Given the description of an element on the screen output the (x, y) to click on. 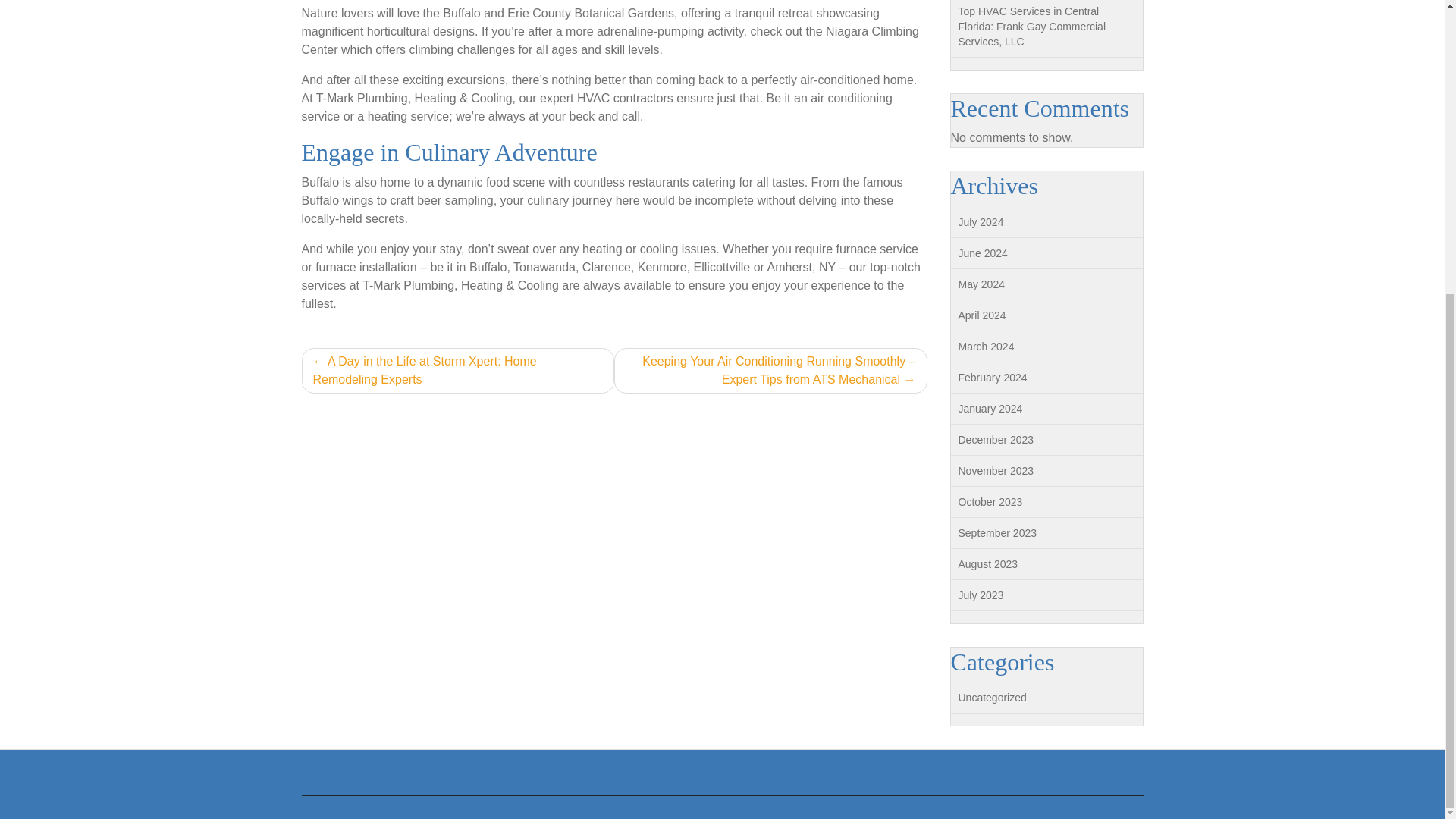
October 2023 (990, 501)
Uncategorized (992, 697)
February 2024 (992, 377)
August 2023 (987, 563)
July 2023 (981, 594)
January 2024 (990, 408)
June 2024 (982, 253)
December 2023 (995, 439)
July 2024 (981, 222)
April 2024 (982, 315)
September 2023 (997, 532)
A Day in the Life at Storm Xpert: Home Remodeling Experts (457, 370)
March 2024 (986, 346)
May 2024 (981, 284)
